Given the description of an element on the screen output the (x, y) to click on. 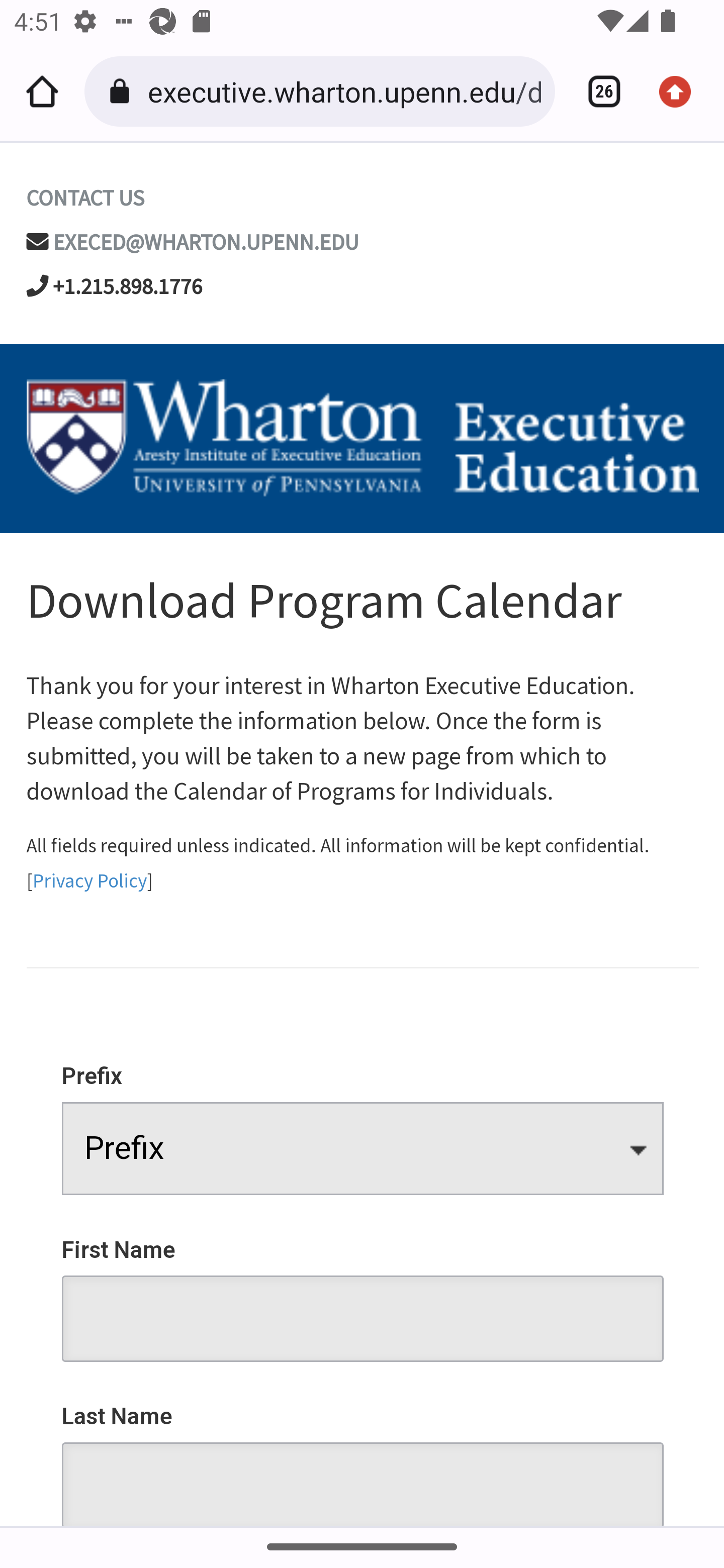
Home (42, 91)
Connection is secure (122, 91)
Switch or close tabs (597, 91)
Update available. More options (681, 91)
CONTACT US (84, 198)
EXECED@WHARTON.UPENN.EDU (206, 242)
Wharton - University of Pennsylvania (362, 438)
Privacy Policy (89, 880)
Prefix (362, 1117)
Prefix (362, 1148)
First Name (362, 1287)
Last Name (362, 1452)
